Given the description of an element on the screen output the (x, y) to click on. 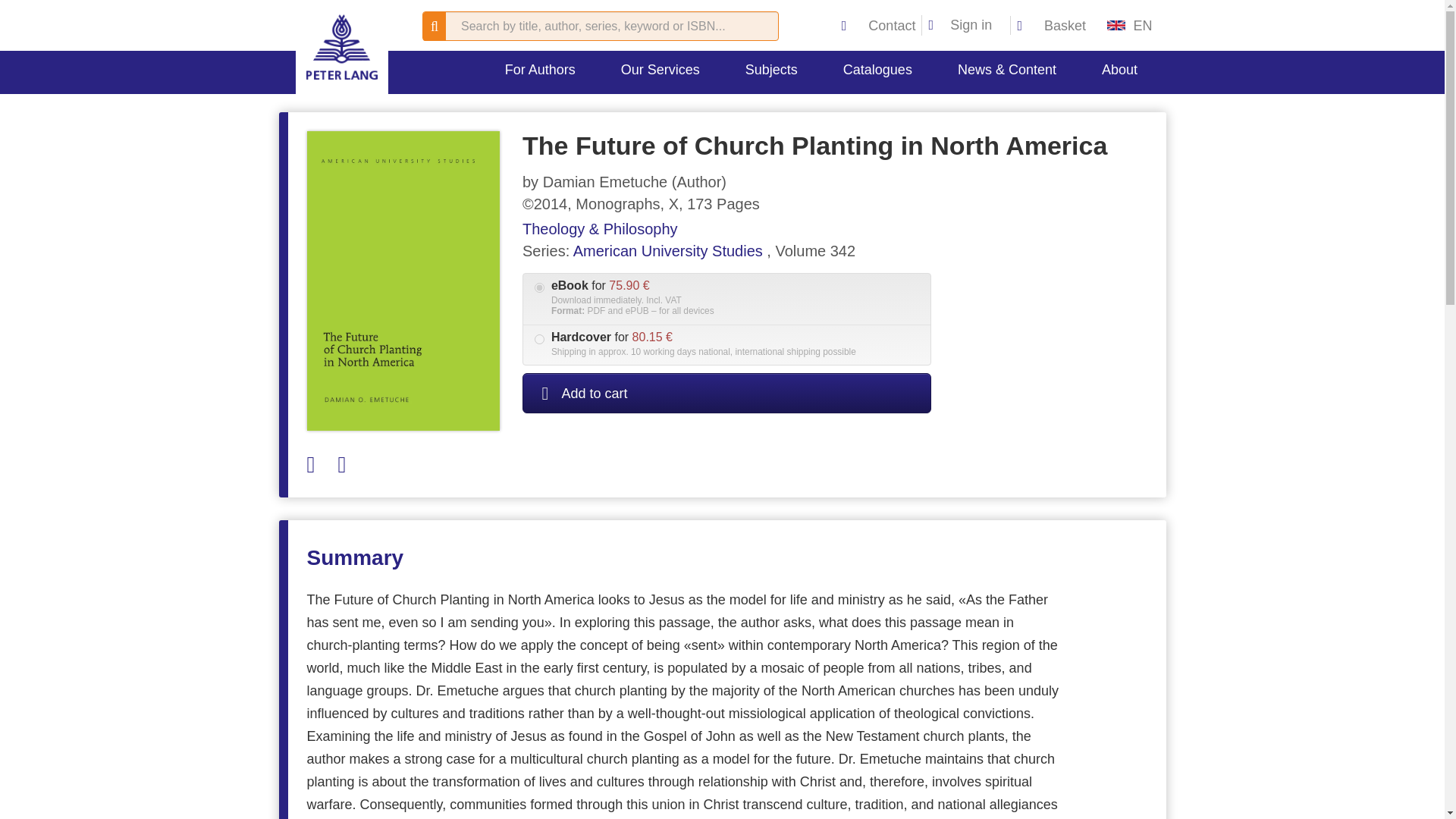
Contact (879, 25)
2024 Emerging Scholars Competition (542, 132)
peterlang (341, 47)
Catalogue Overview (880, 112)
The Arts (785, 103)
Services Overview (651, 112)
Basket (1051, 25)
Linguistics (894, 103)
Subjects Overview (785, 112)
Publish with us (542, 112)
